Given the description of an element on the screen output the (x, y) to click on. 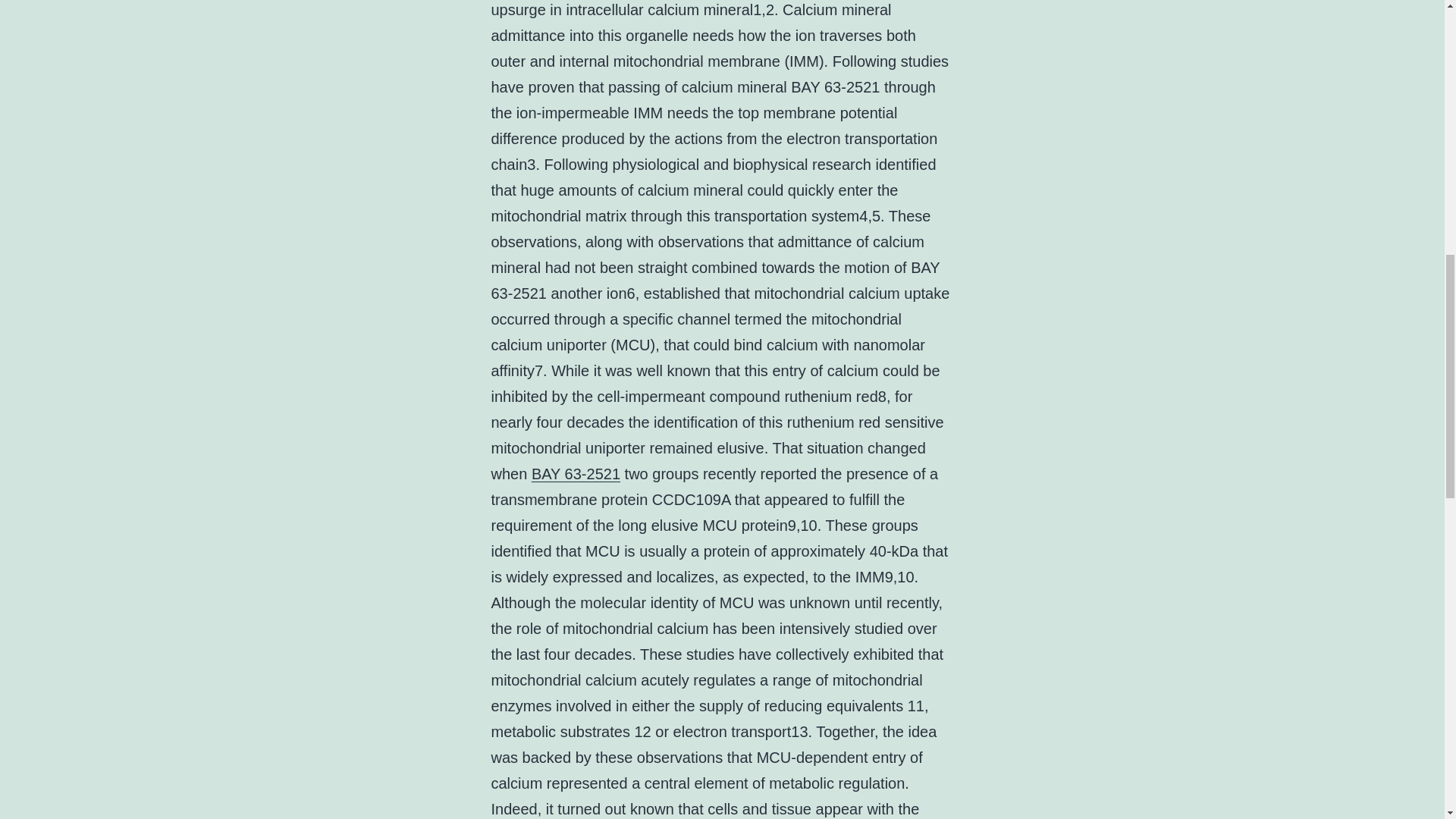
BAY 63-2521 (575, 474)
